Given the description of an element on the screen output the (x, y) to click on. 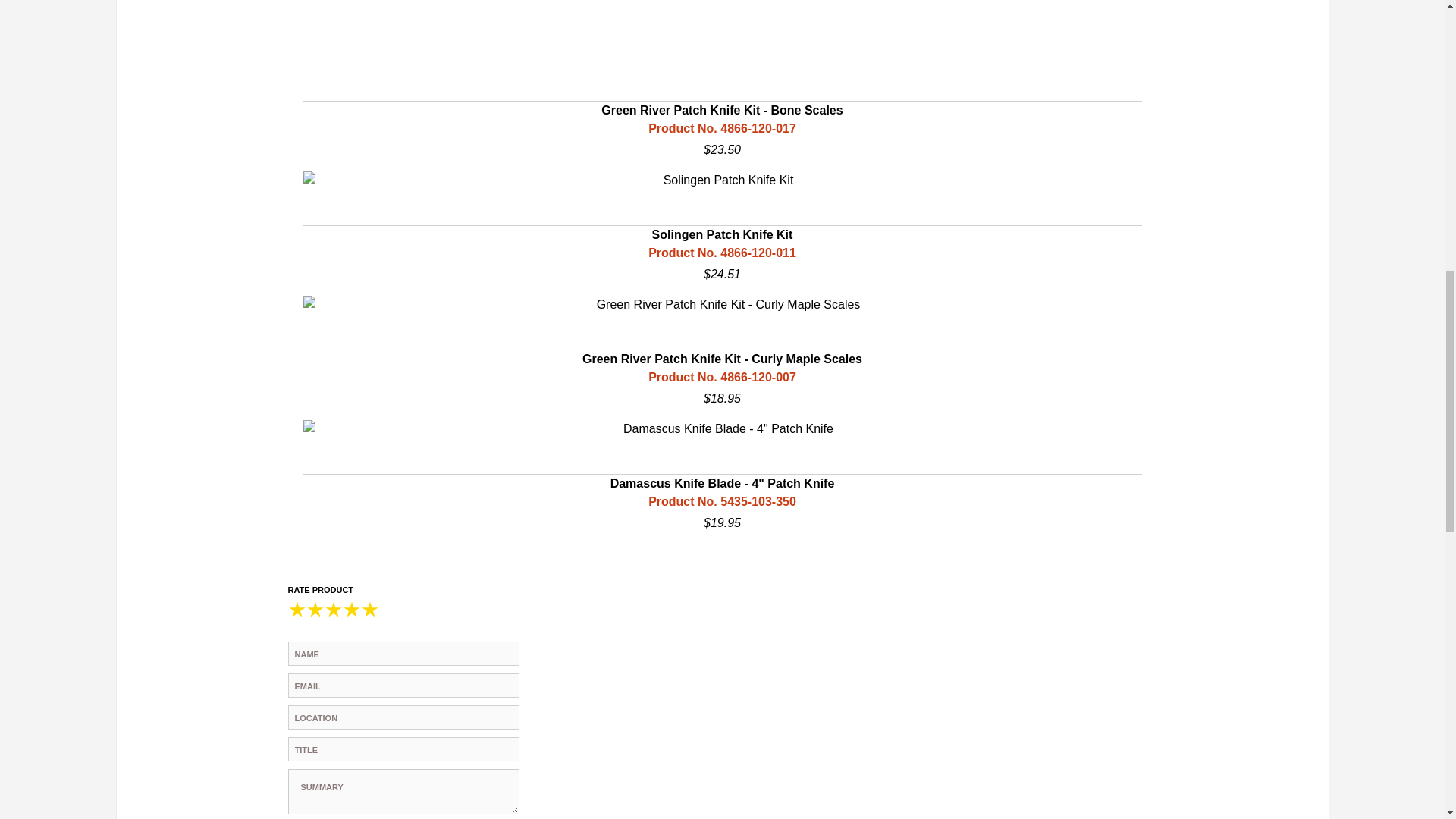
Solingen Patch Knife Kit (721, 180)
Green River Patch Knife Kit - Curly Maple Scales (721, 304)
Green River Patch Knife Kit - Bone Scales (721, 79)
Solingen Patch Knife Kit (721, 227)
Green River Patch Knife Kit - Curly Maple Scales (721, 351)
Damascus Knife Blade - 4" Patch Knife (721, 429)
Damascus Knife Blade - 4 (721, 476)
